Given the description of an element on the screen output the (x, y) to click on. 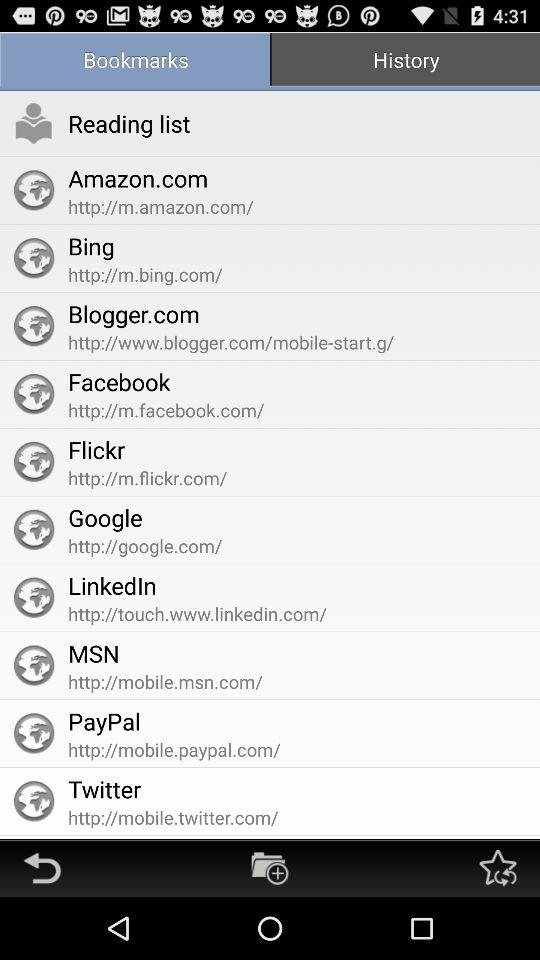
add new bookmark (269, 868)
